Given the description of an element on the screen output the (x, y) to click on. 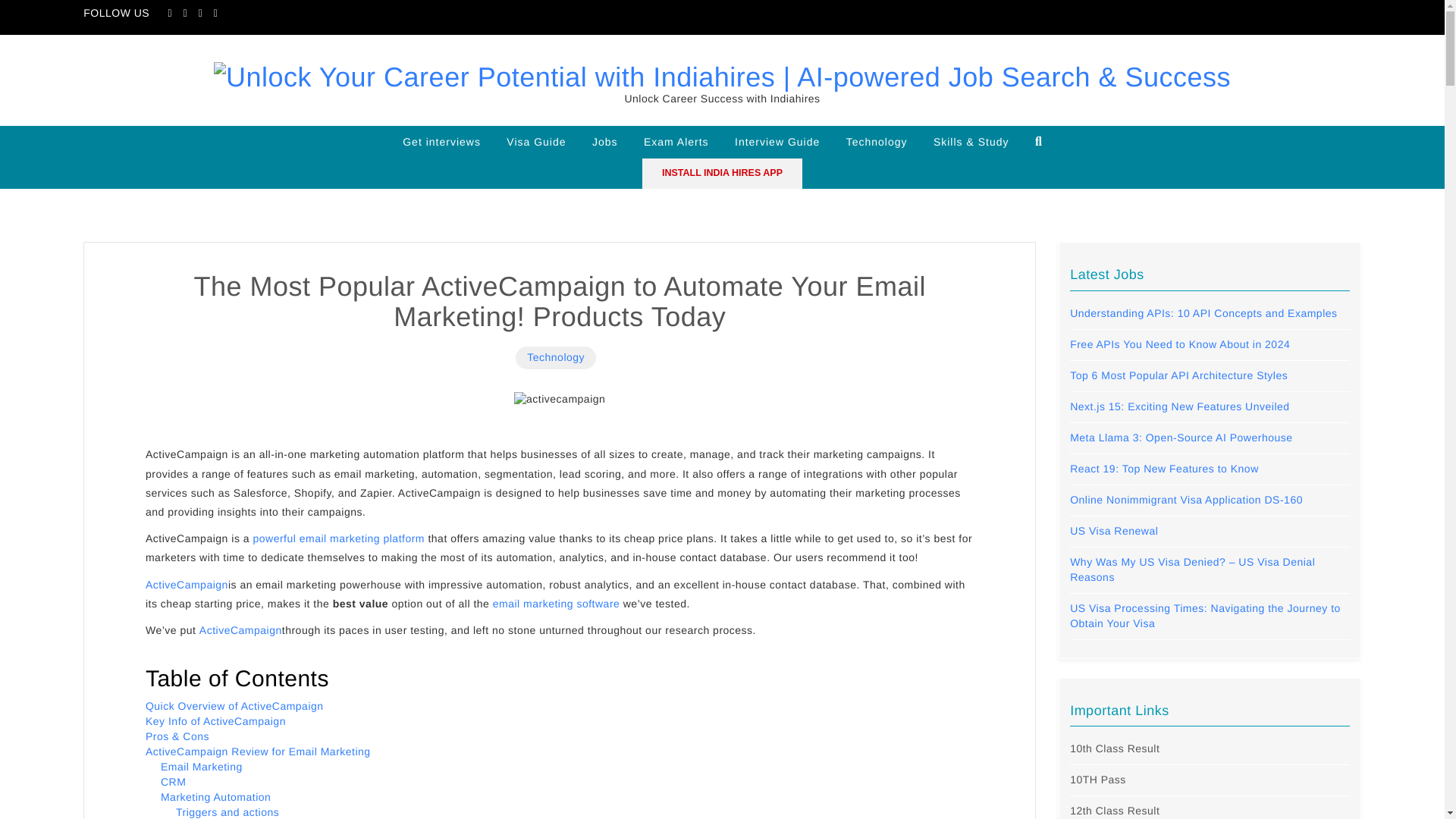
Jobs (604, 141)
Interview Guide (777, 141)
Technology (876, 141)
Visa Guide (535, 141)
Exam Alerts (675, 141)
Get interviews (441, 141)
